Given the description of an element on the screen output the (x, y) to click on. 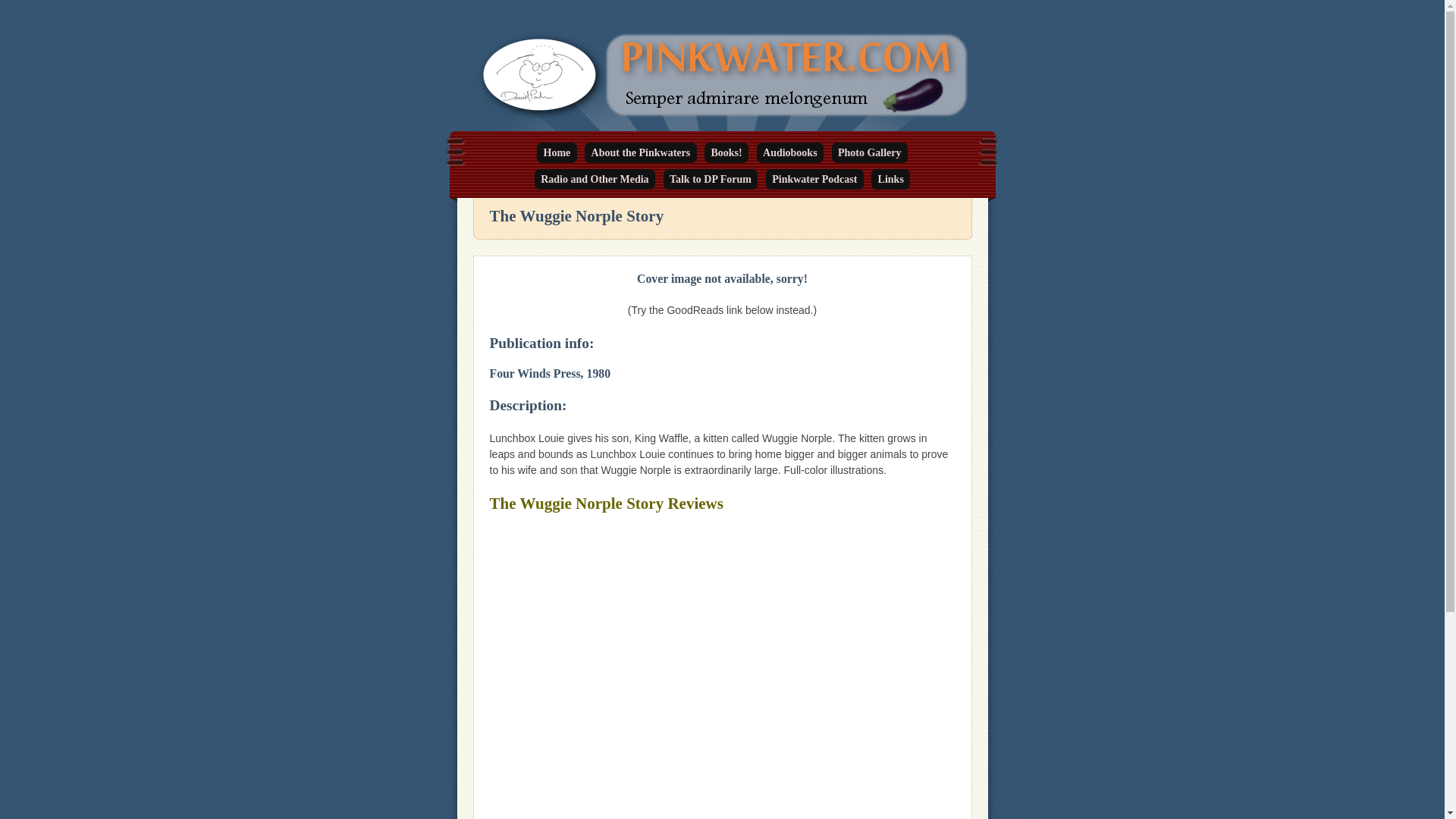
Links (890, 178)
Talk to DP Forum (710, 178)
The Wuggie Norple Story Reviews (606, 503)
Pinkwater Podcast (814, 178)
pinkwater.com (557, 170)
Home (556, 152)
About the Pinkwaters (640, 152)
Books! (726, 152)
Photo Gallery (869, 152)
Radio and Other Media (594, 178)
